Given the description of an element on the screen output the (x, y) to click on. 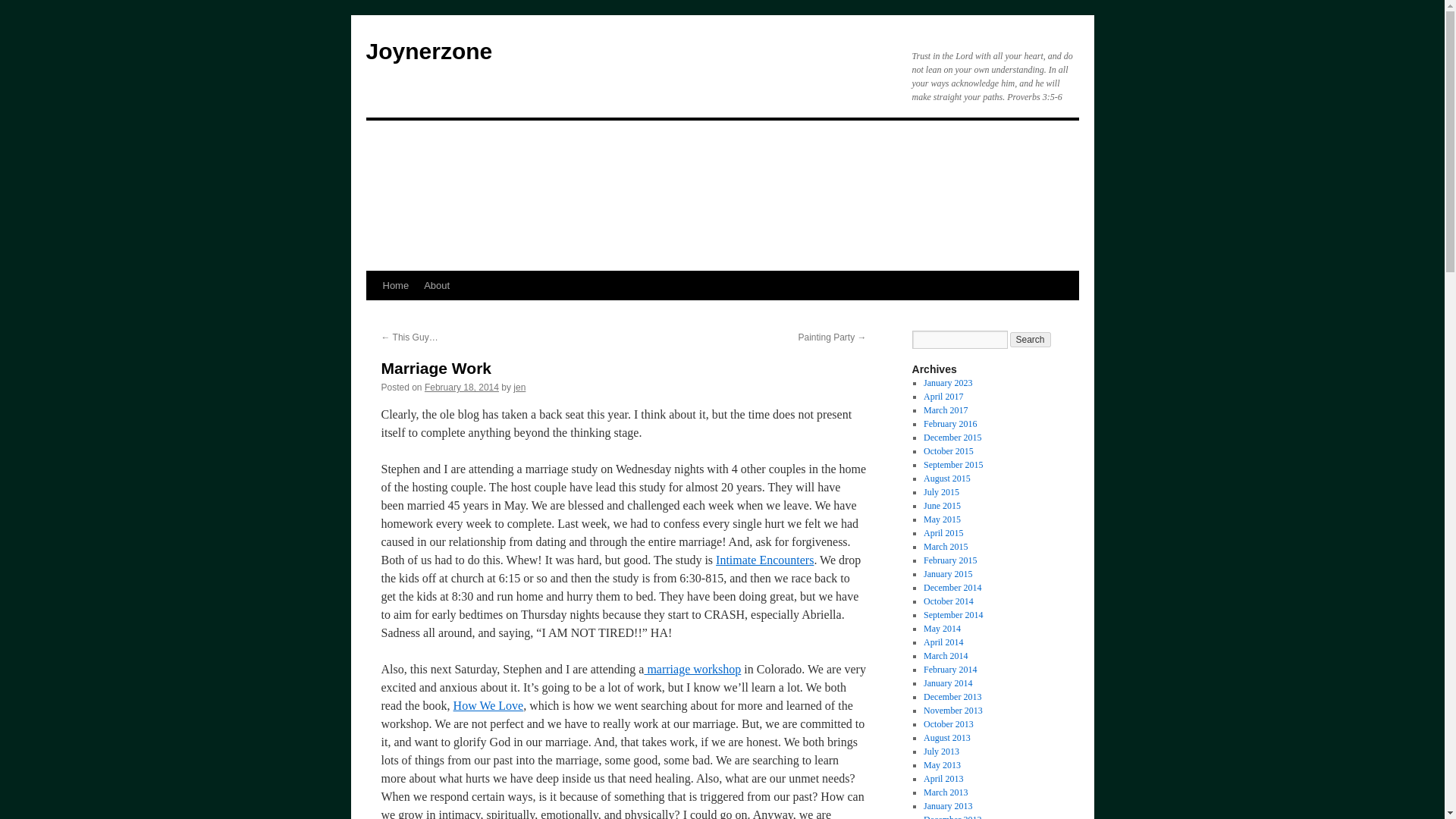
October 2015 (948, 450)
June 2015 (941, 505)
12:56 pm (462, 387)
February 2016 (949, 423)
July 2015 (941, 491)
January 2023 (947, 382)
jen (519, 387)
Search (1030, 339)
May 2015 (941, 519)
Joynerzone (428, 50)
